Given the description of an element on the screen output the (x, y) to click on. 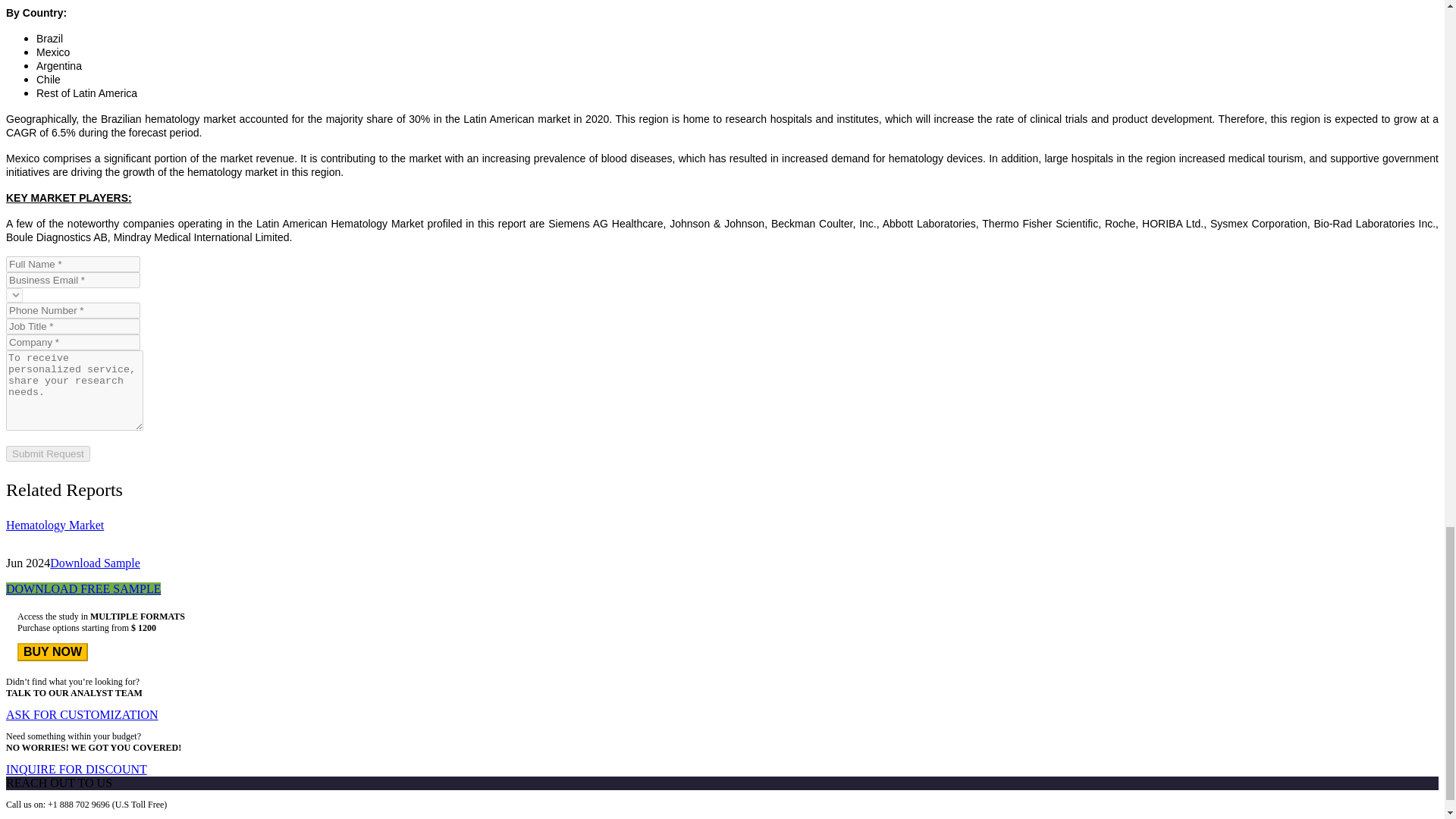
Submit Request (47, 453)
Submit Request (47, 453)
